Given the description of an element on the screen output the (x, y) to click on. 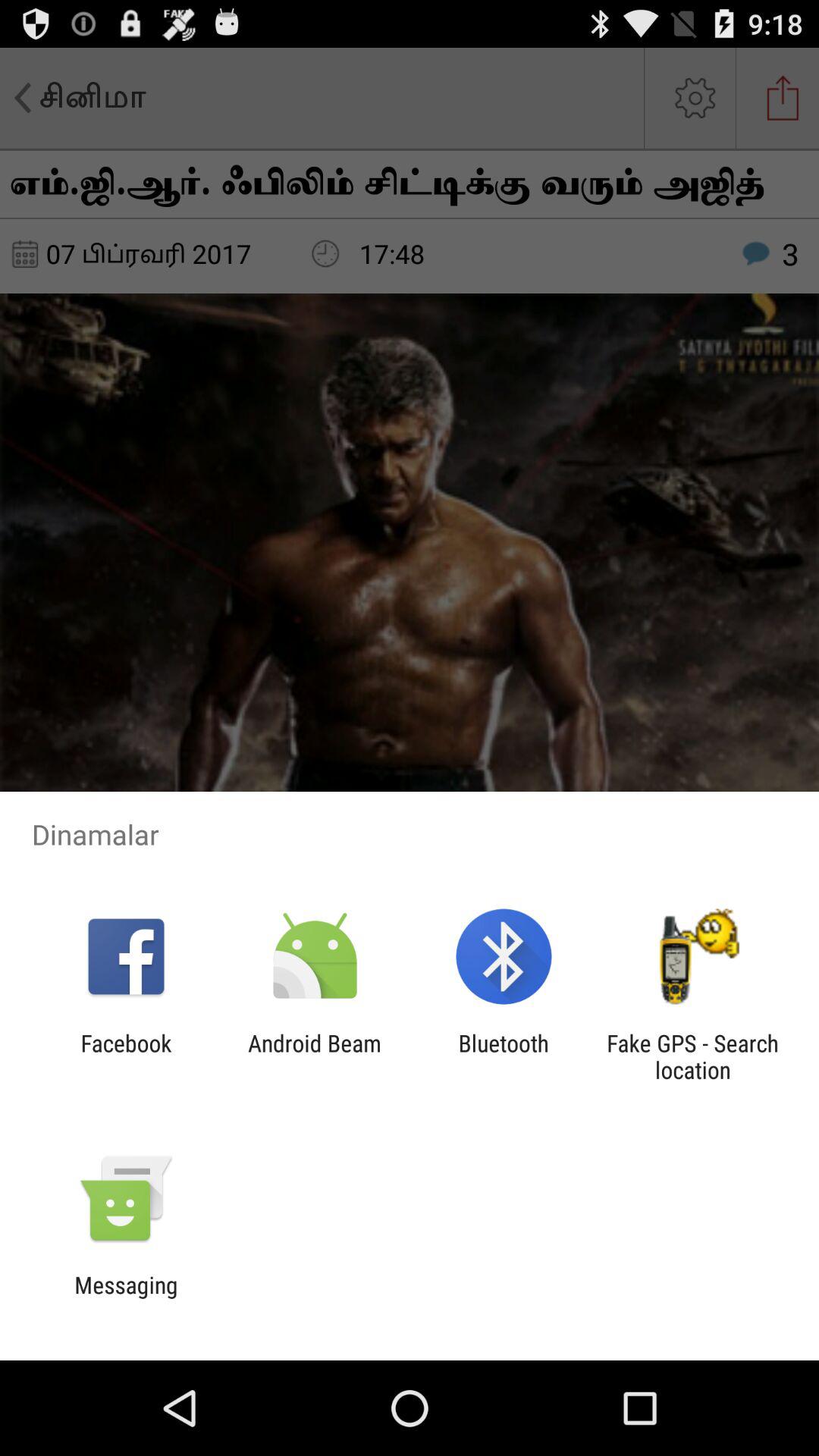
click the icon next to the android beam item (503, 1056)
